Given the description of an element on the screen output the (x, y) to click on. 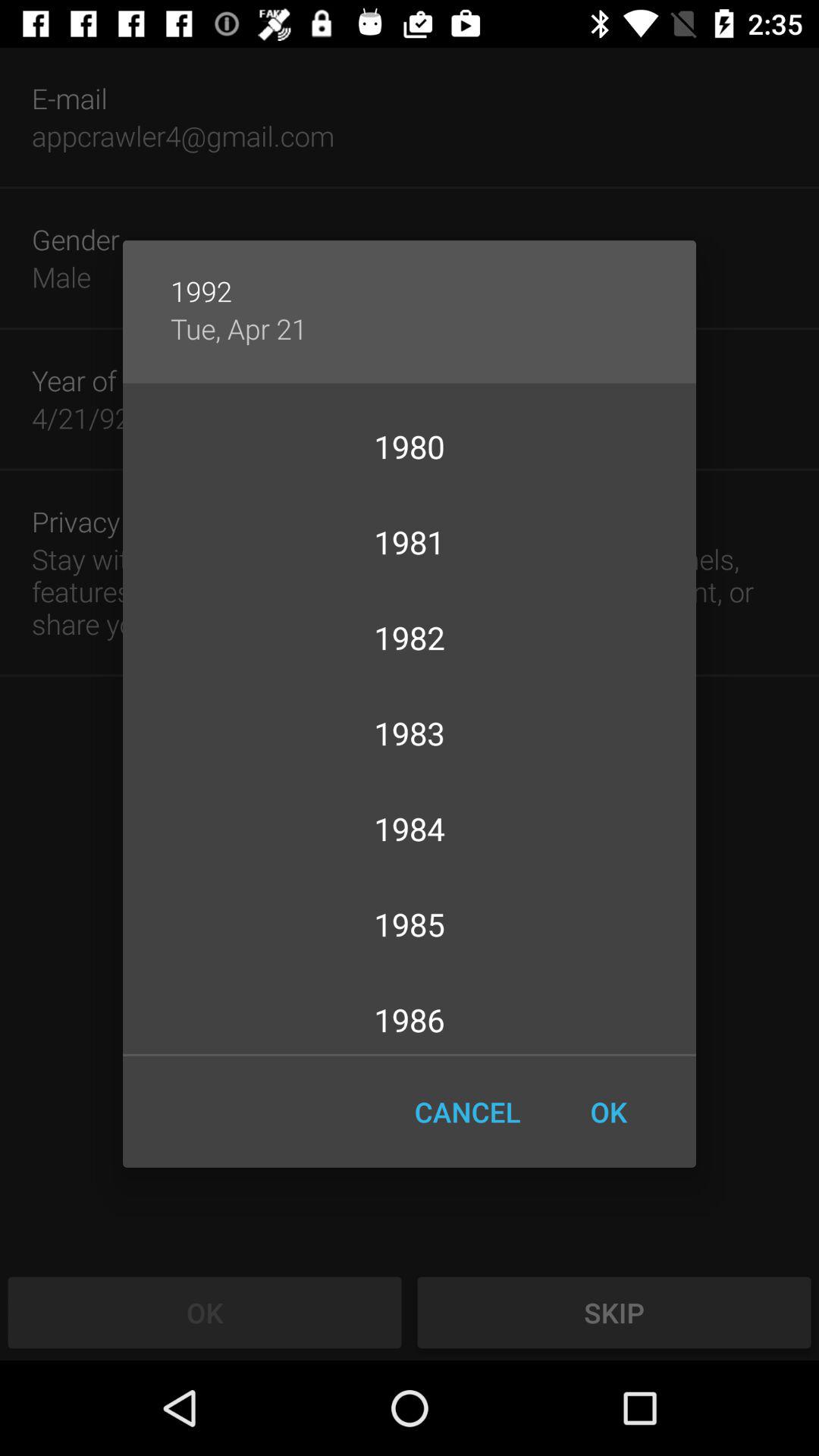
tap app at the top left corner (238, 328)
